Given the description of an element on the screen output the (x, y) to click on. 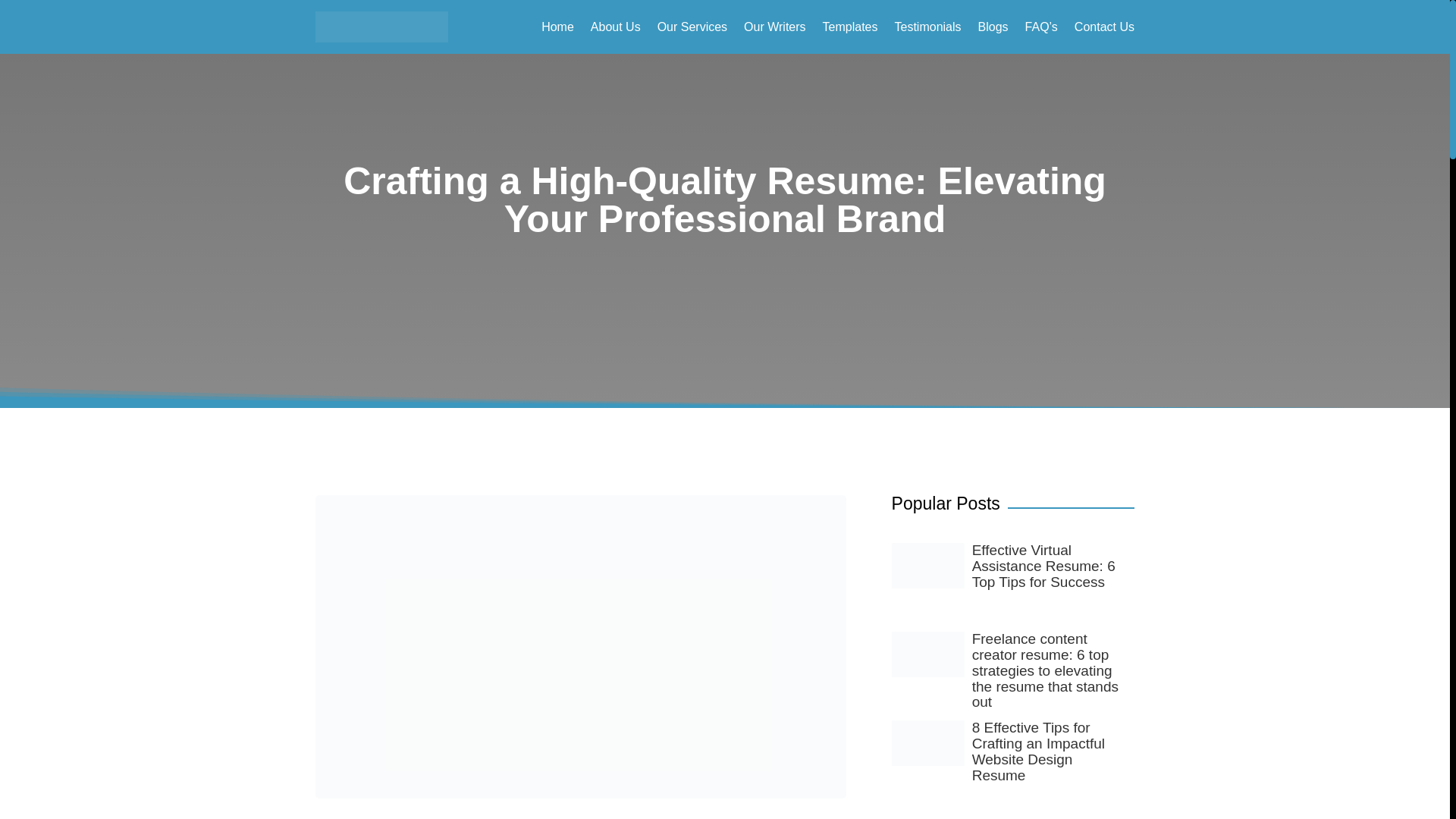
Contact Us (1104, 29)
About Us (615, 29)
Effective Virtual Assistance Resume: 6 Top Tips for Success (1043, 565)
OPTIMIZED12-svg (381, 26)
Testimonials (927, 29)
Our Services (692, 29)
Home (557, 29)
Templates (849, 29)
Blogs (993, 29)
